Given the description of an element on the screen output the (x, y) to click on. 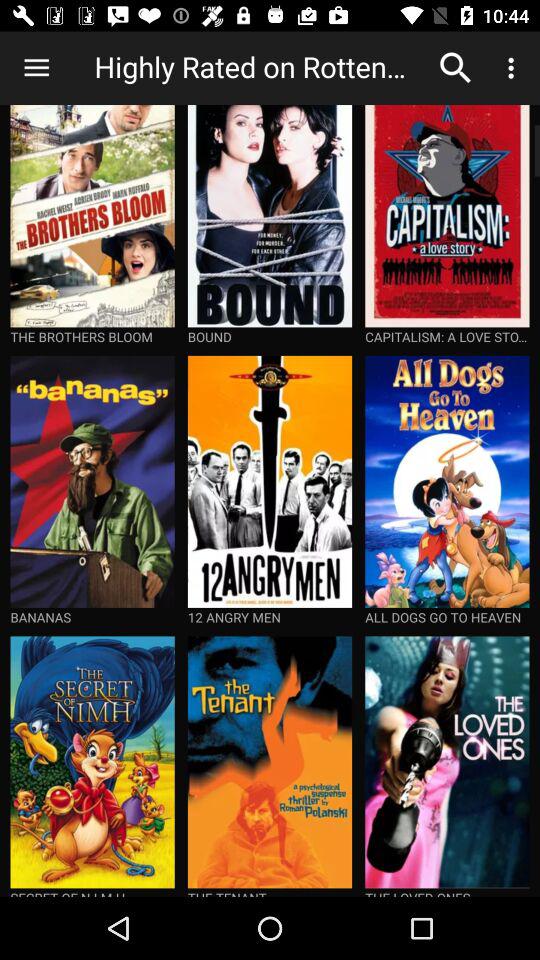
launch highly rated on icon (259, 68)
